Given the description of an element on the screen output the (x, y) to click on. 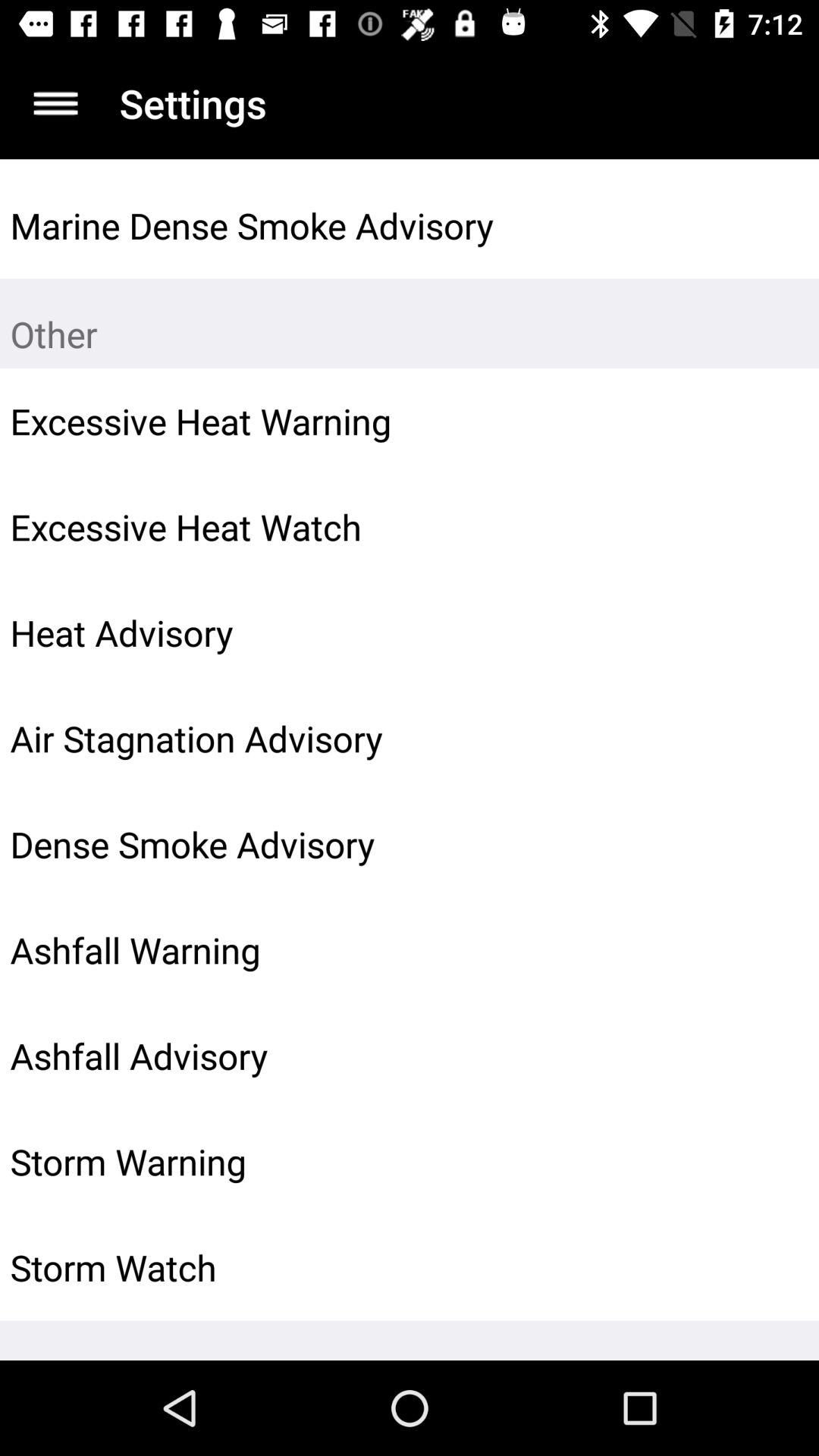
tap item next to the dense smoke advisory item (771, 844)
